Given the description of an element on the screen output the (x, y) to click on. 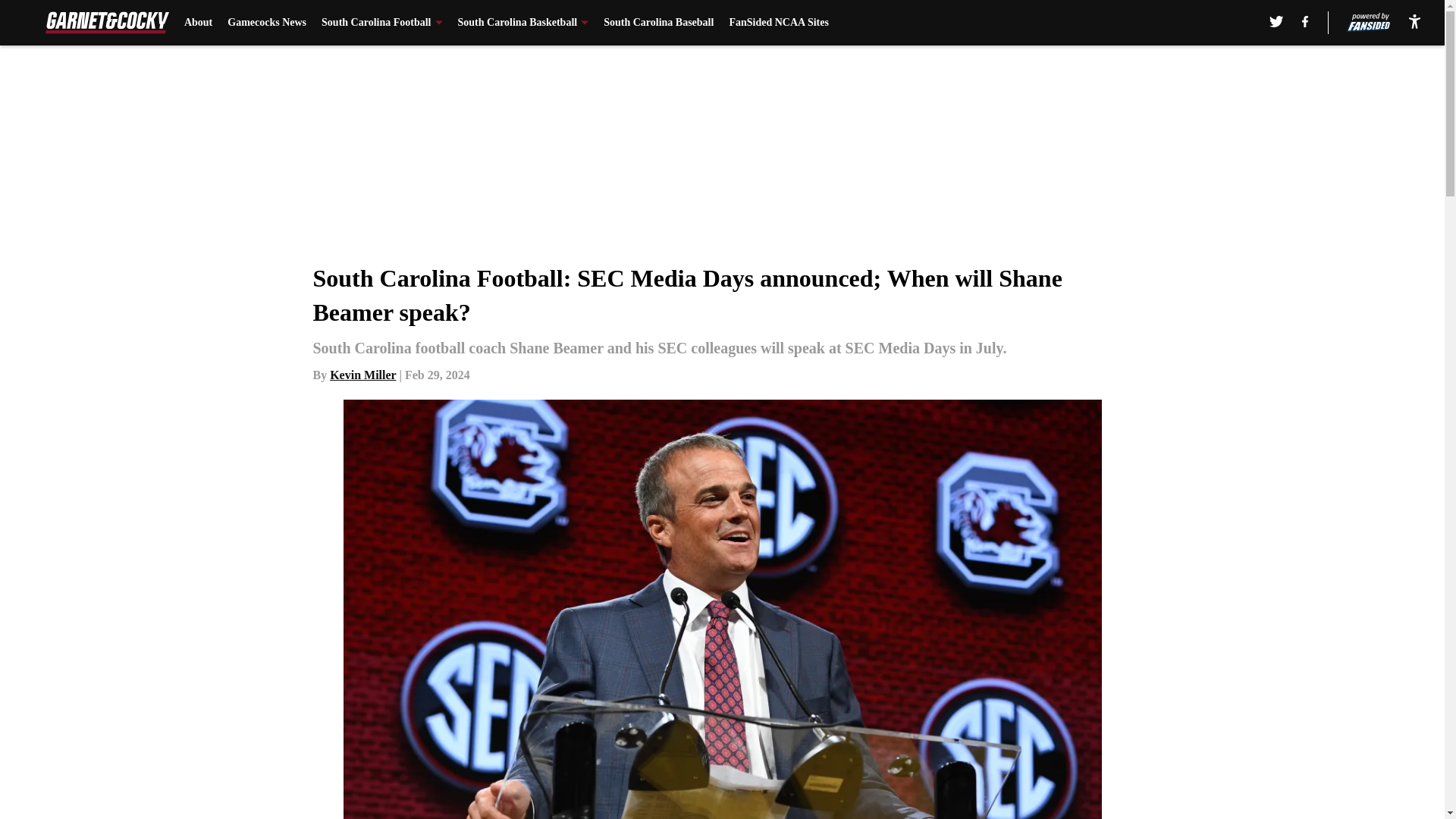
FanSided NCAA Sites (778, 22)
Gamecocks News (266, 22)
South Carolina Baseball (658, 22)
About (198, 22)
Kevin Miller (363, 374)
